Given the description of an element on the screen output the (x, y) to click on. 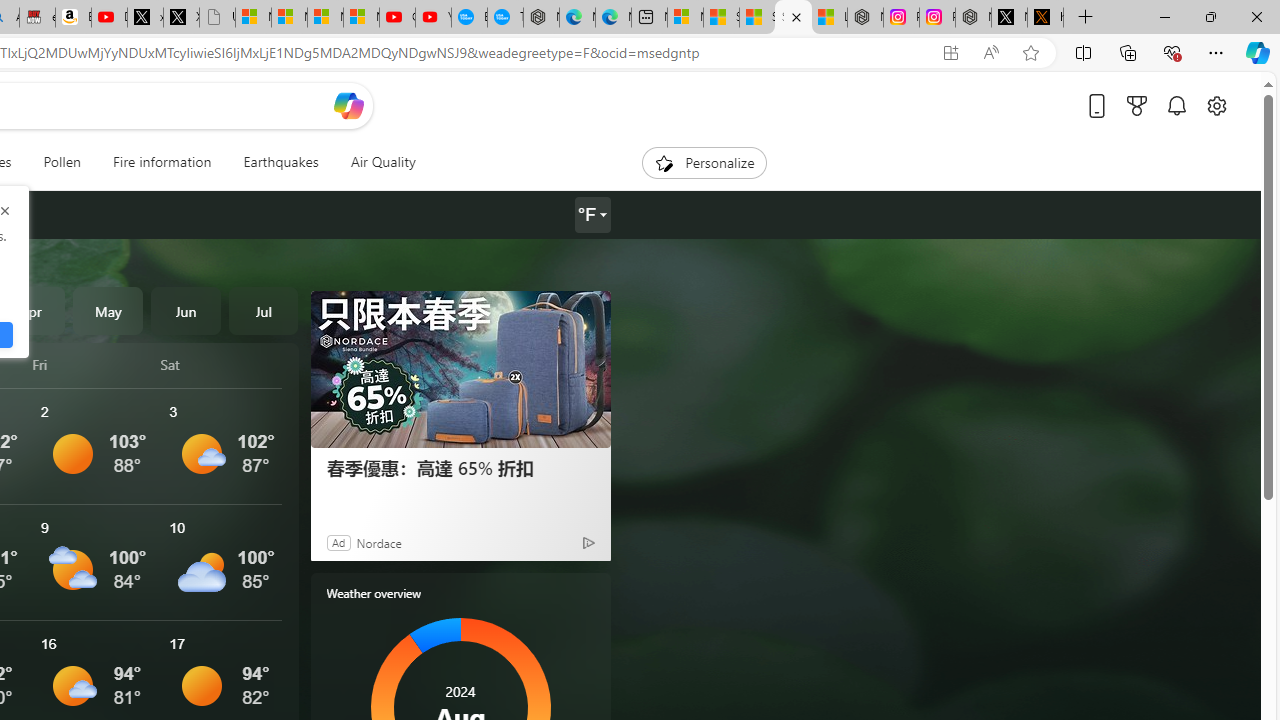
Jul (263, 310)
May (107, 310)
Air Quality (375, 162)
Jun (186, 310)
App available. Install Microsoft Start Weather (950, 53)
Shanghai, China hourly forecast | Microsoft Weather (756, 17)
Untitled (217, 17)
help.x.com | 524: A timeout occurred (1045, 17)
YouTube Kids - An App Created for Kids to Explore Content (433, 17)
Weather settings (591, 215)
